Given the description of an element on the screen output the (x, y) to click on. 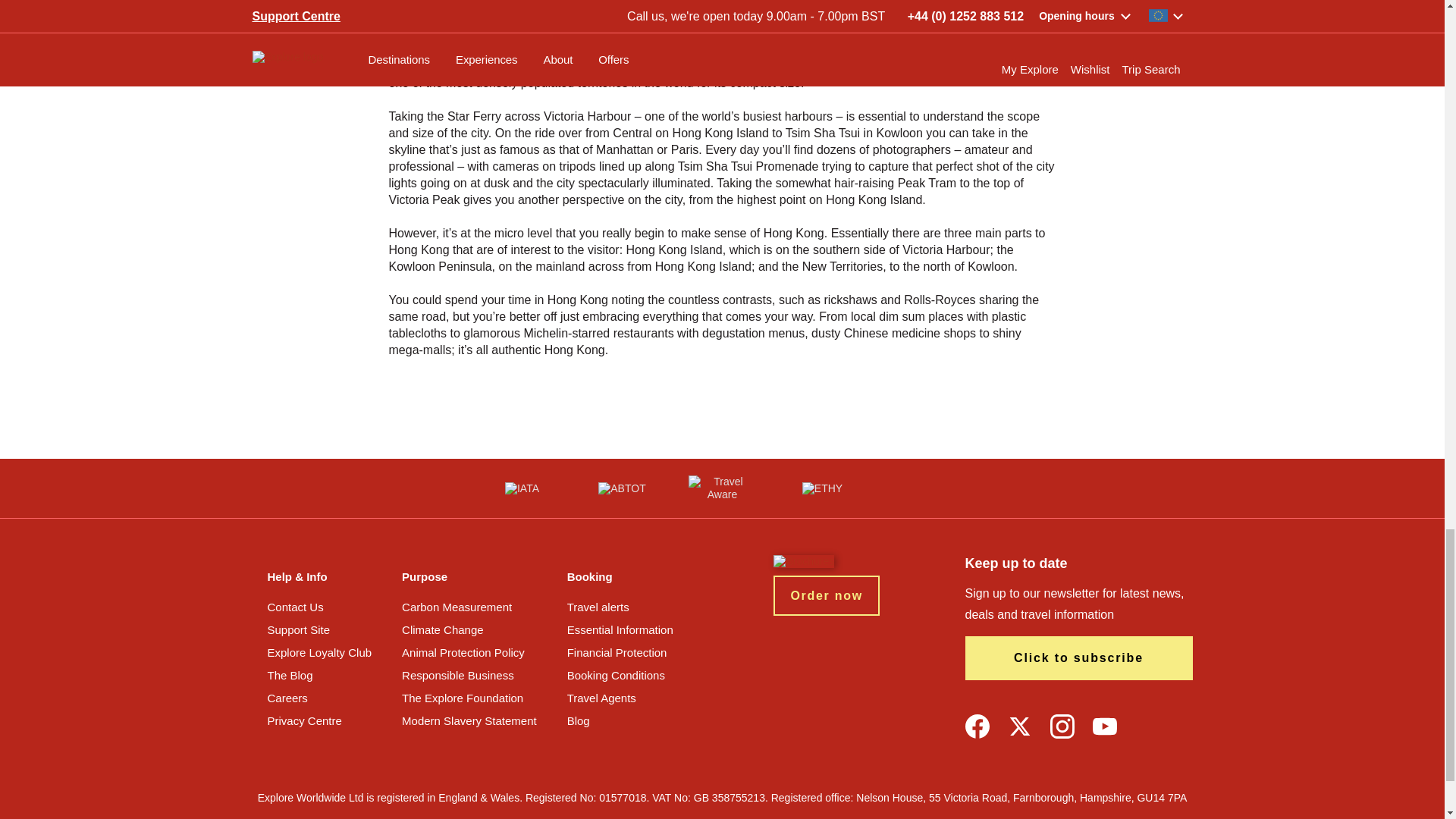
Instagram (1061, 726)
Facebook (975, 726)
YouTube (1104, 726)
Twitter (1018, 726)
